Given the description of an element on the screen output the (x, y) to click on. 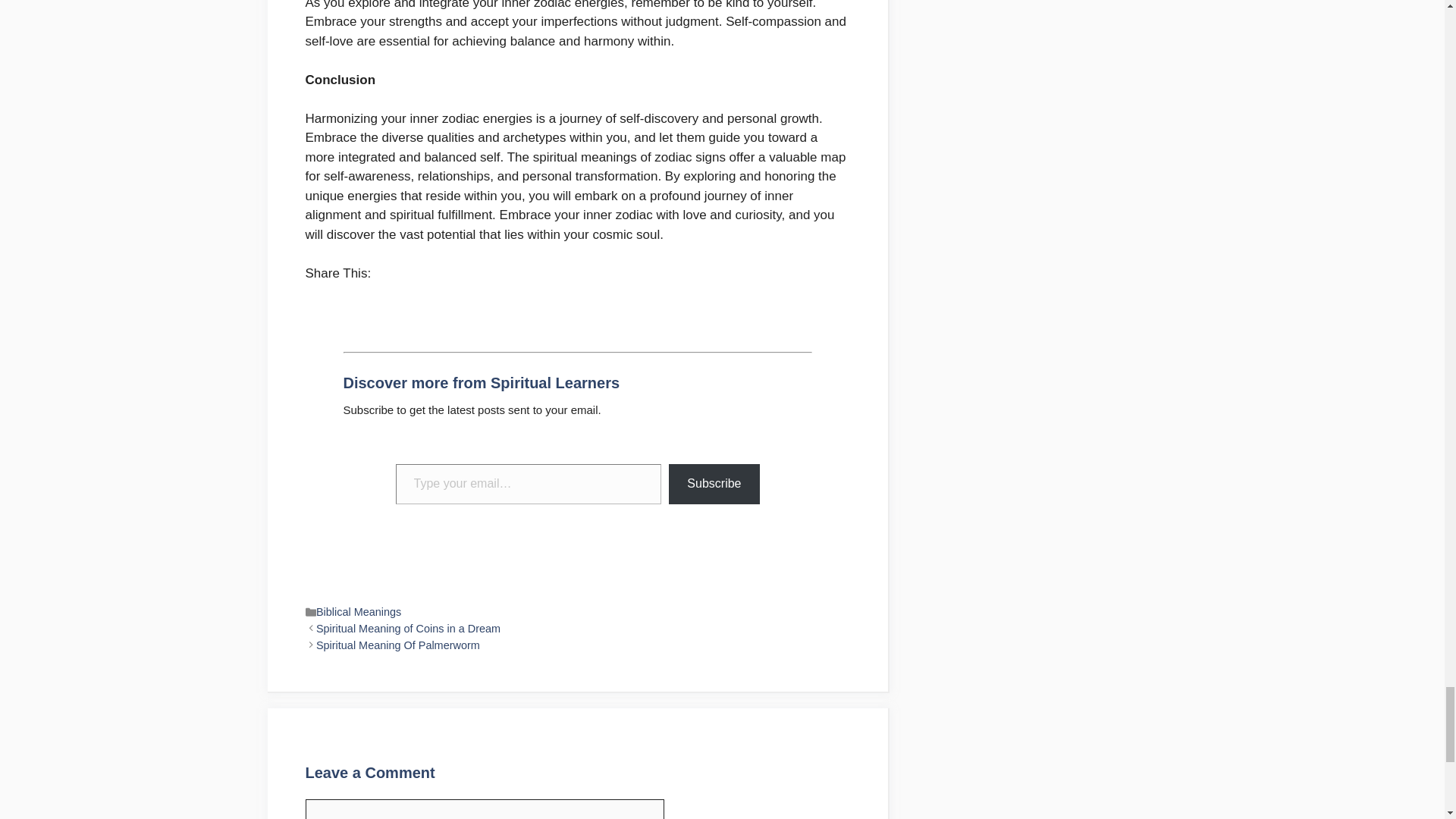
Biblical Meanings (358, 612)
Please fill in this field. (529, 484)
Spiritual Meaning Of Palmerworm (397, 645)
Spiritual Meaning of Coins in a Dream (407, 628)
Subscribe (713, 484)
